Given the description of an element on the screen output the (x, y) to click on. 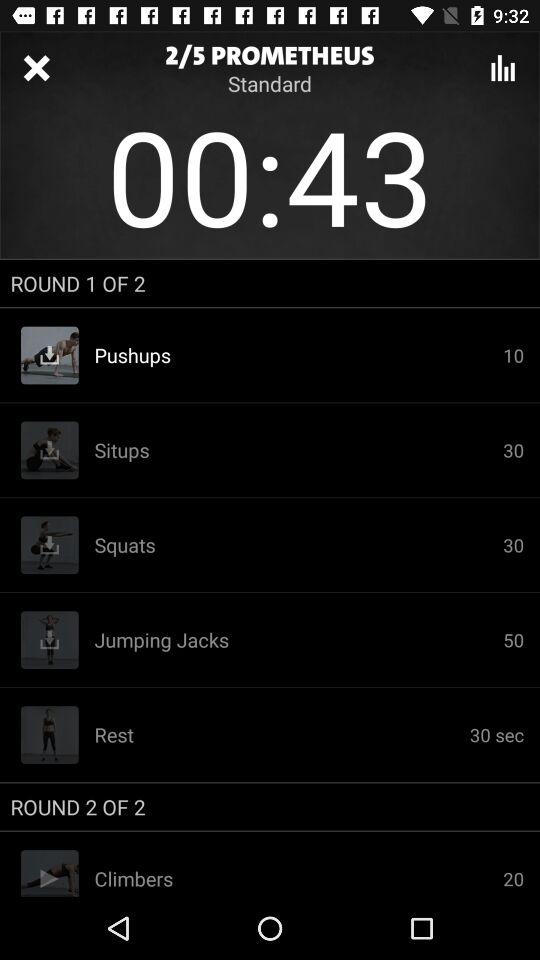
select item next to 2/5 prometheus icon (503, 68)
